Given the description of an element on the screen output the (x, y) to click on. 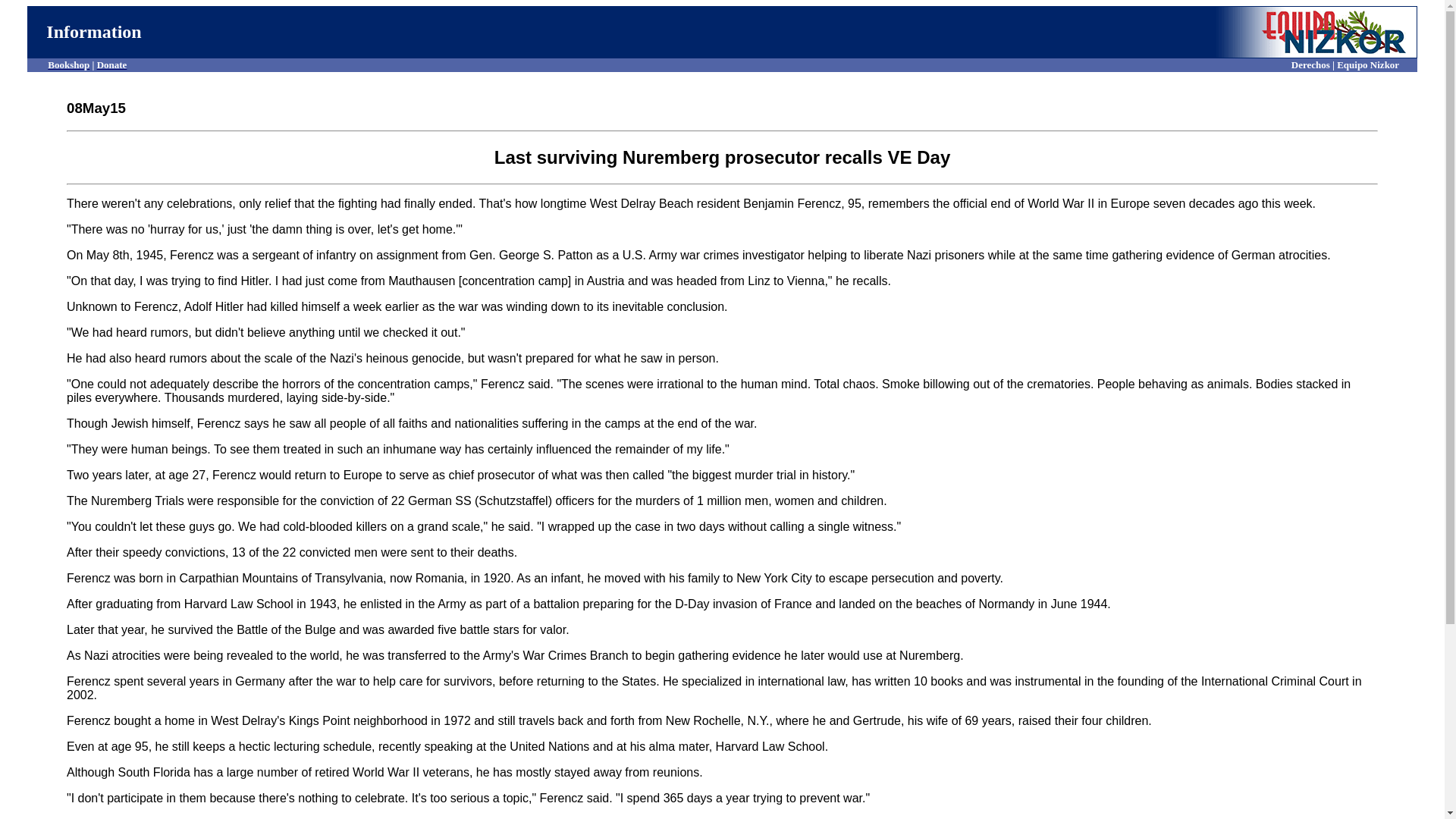
Donate (112, 64)
Bookshop (68, 64)
